Given the description of an element on the screen output the (x, y) to click on. 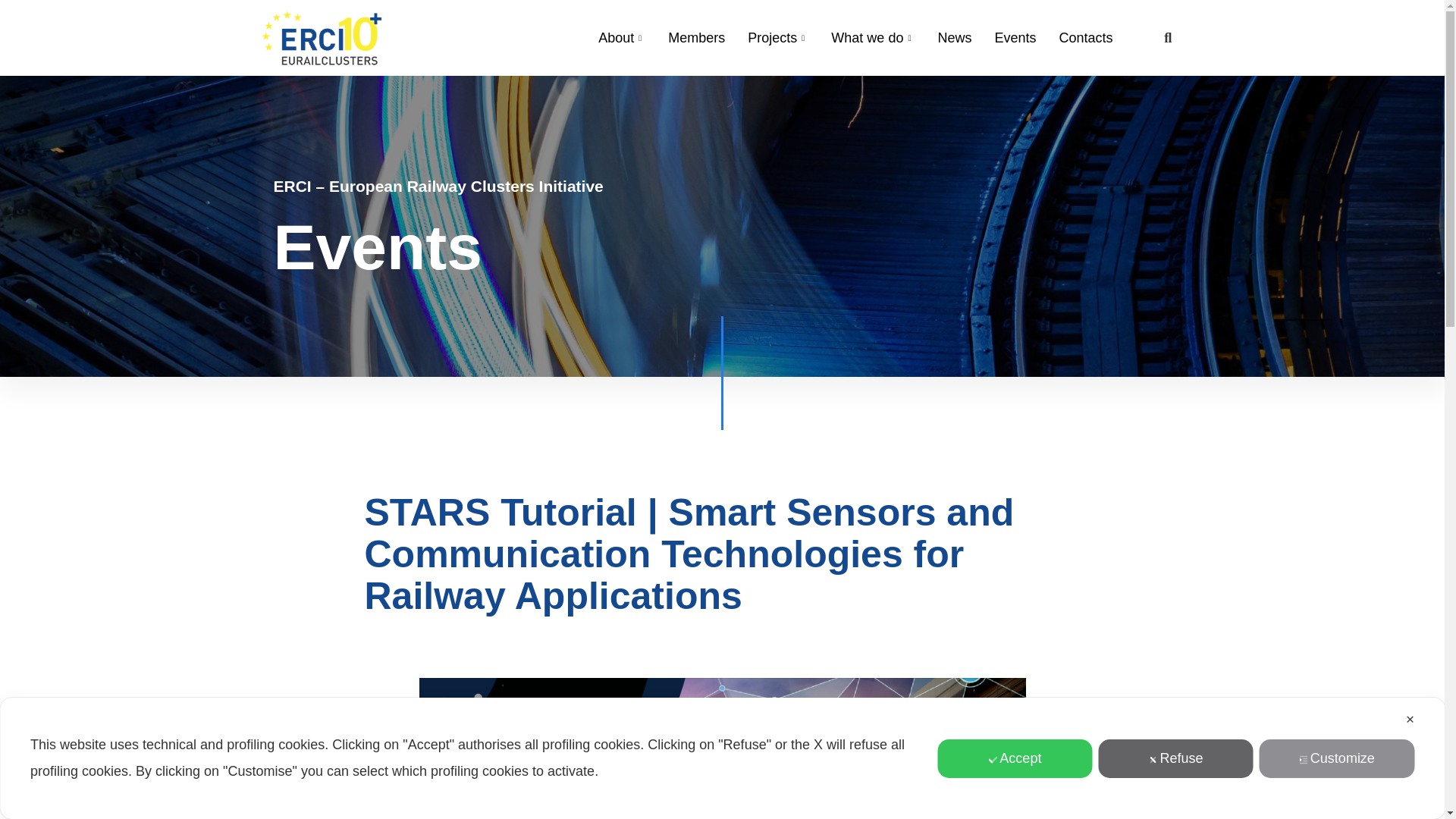
Projects (777, 37)
What we do (872, 37)
News (954, 37)
Events (1014, 37)
About (621, 37)
Members (696, 37)
Contacts (1085, 37)
